Given the description of an element on the screen output the (x, y) to click on. 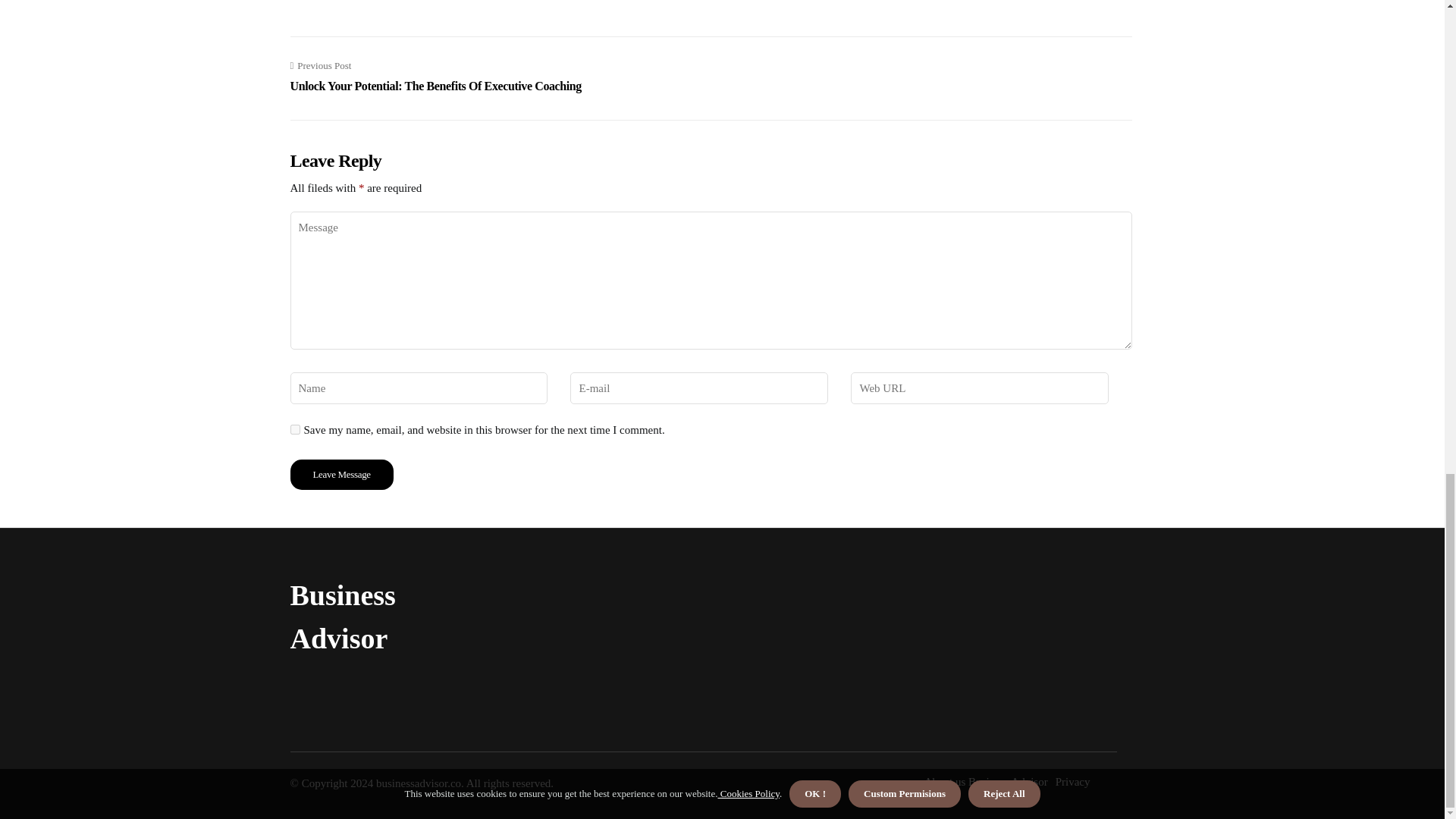
yes (294, 429)
Leave Message (341, 474)
Leave Message (341, 474)
